Given the description of an element on the screen output the (x, y) to click on. 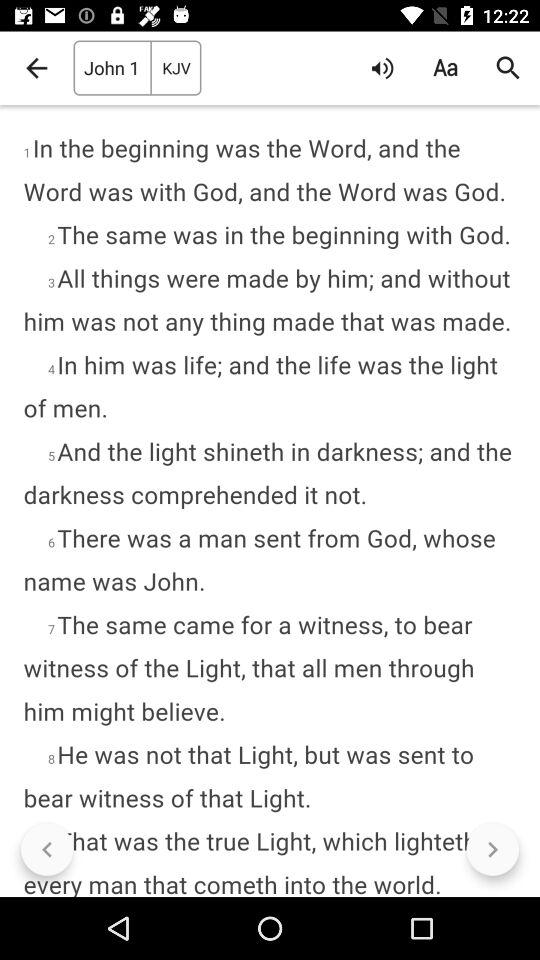
turn on john 1 item (111, 67)
